Given the description of an element on the screen output the (x, y) to click on. 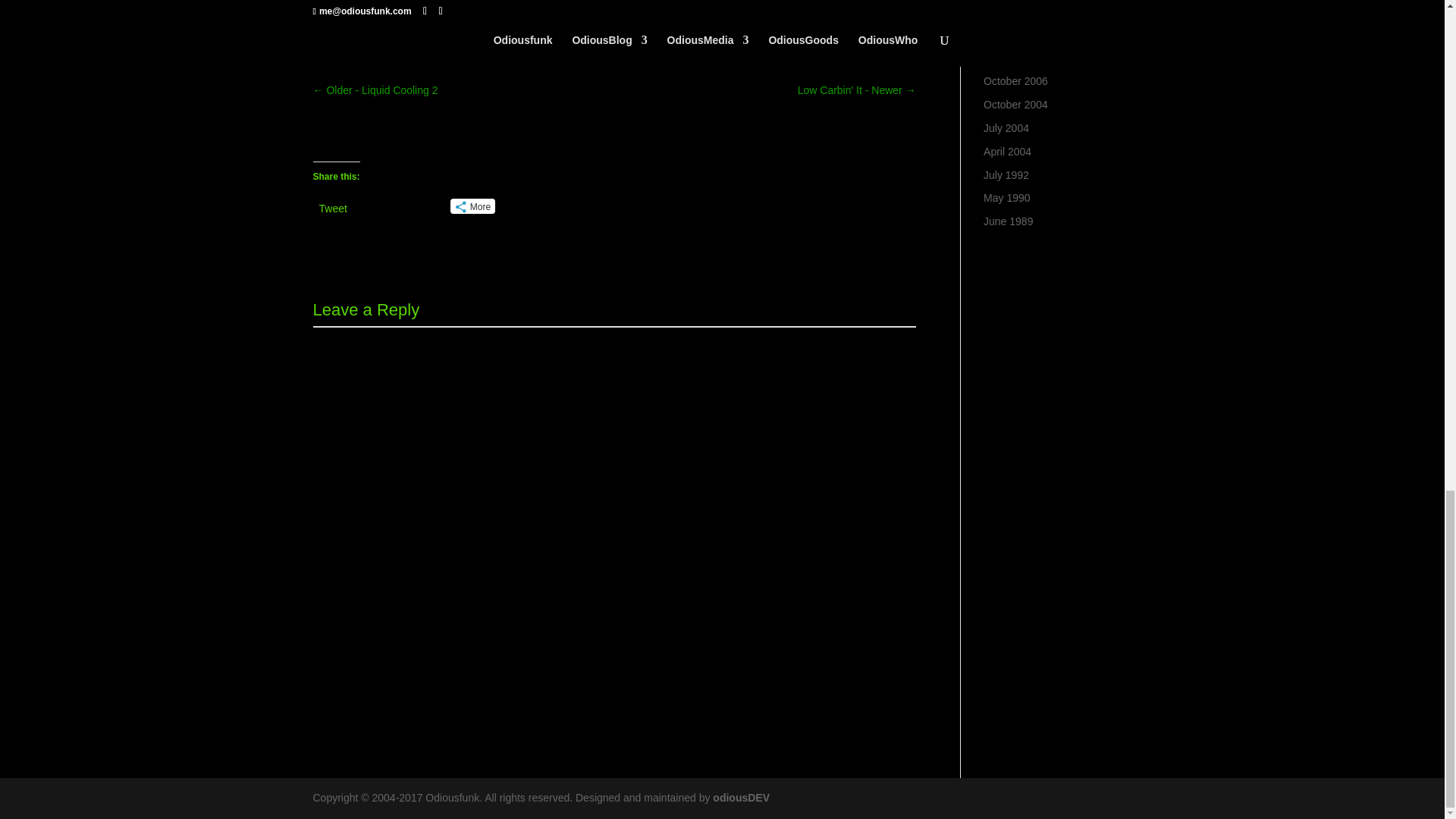
More (472, 206)
Tweet (332, 205)
